Given the description of an element on the screen output the (x, y) to click on. 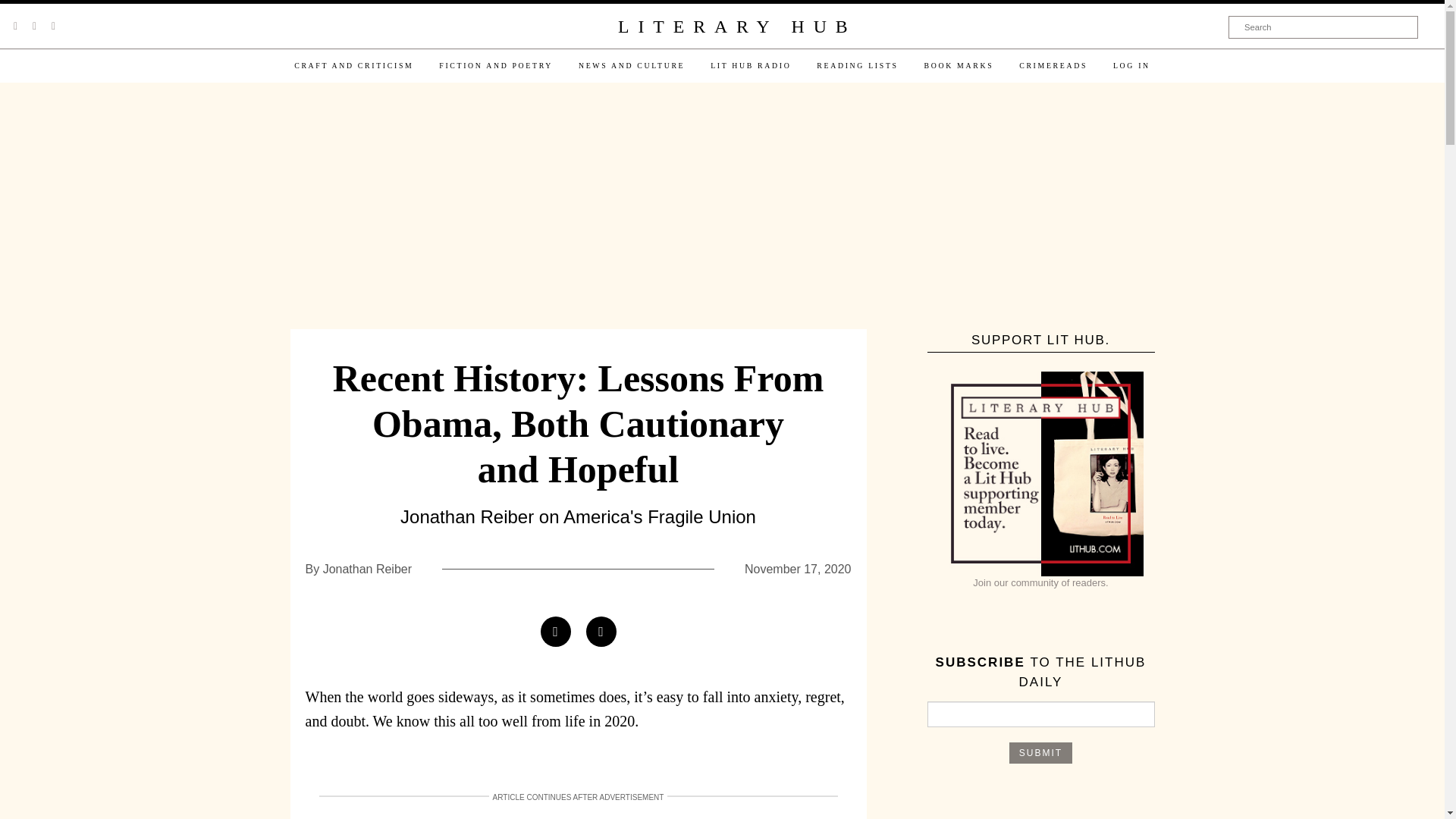
CRAFT AND CRITICISM (353, 65)
Search (1323, 26)
FICTION AND POETRY (496, 65)
NEWS AND CULTURE (631, 65)
LITERARY HUB (736, 26)
